Given the description of an element on the screen output the (x, y) to click on. 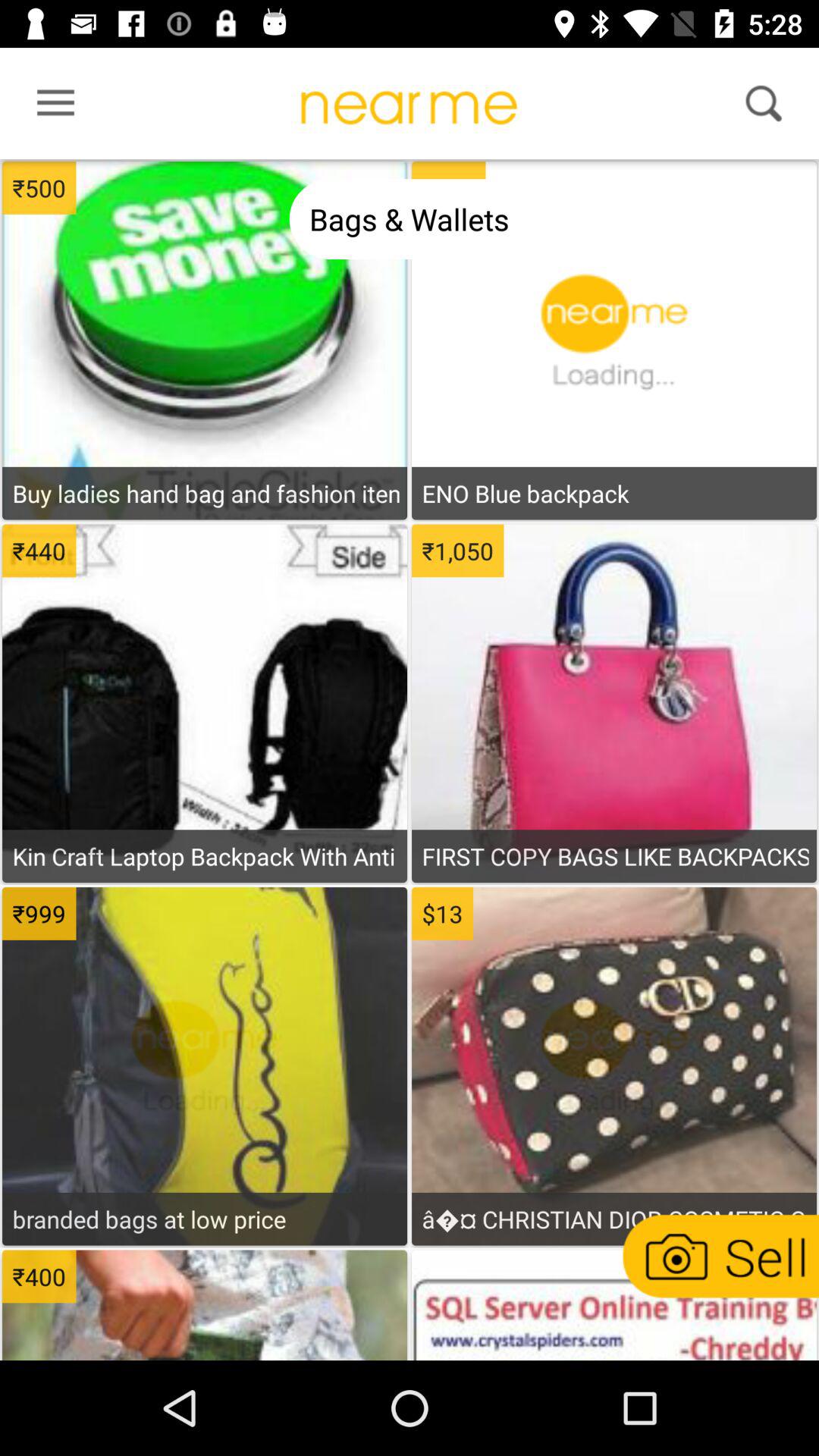
go to item page (205, 1307)
